Given the description of an element on the screen output the (x, y) to click on. 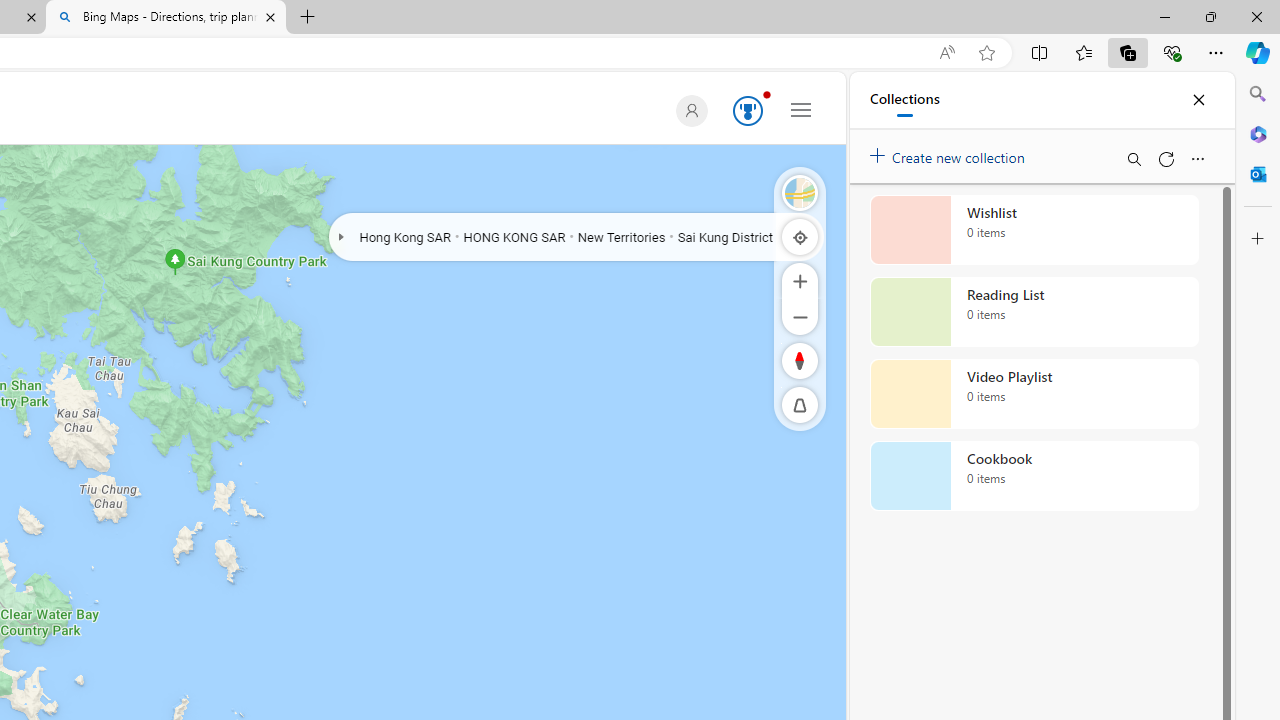
Animation (766, 94)
Bird's eye (799, 192)
Streetside (799, 192)
Wishlist collection, 0 items (1034, 229)
Read aloud this page (Ctrl+Shift+U) (946, 53)
Reset to Default Rotation (799, 360)
Customize (1258, 239)
Search (1258, 94)
Locate me (799, 236)
Create new collection (950, 153)
Split screen (1039, 52)
Favorites (1083, 52)
Default Profile Picture (687, 110)
Microsoft 365 (1258, 133)
